Given the description of an element on the screen output the (x, y) to click on. 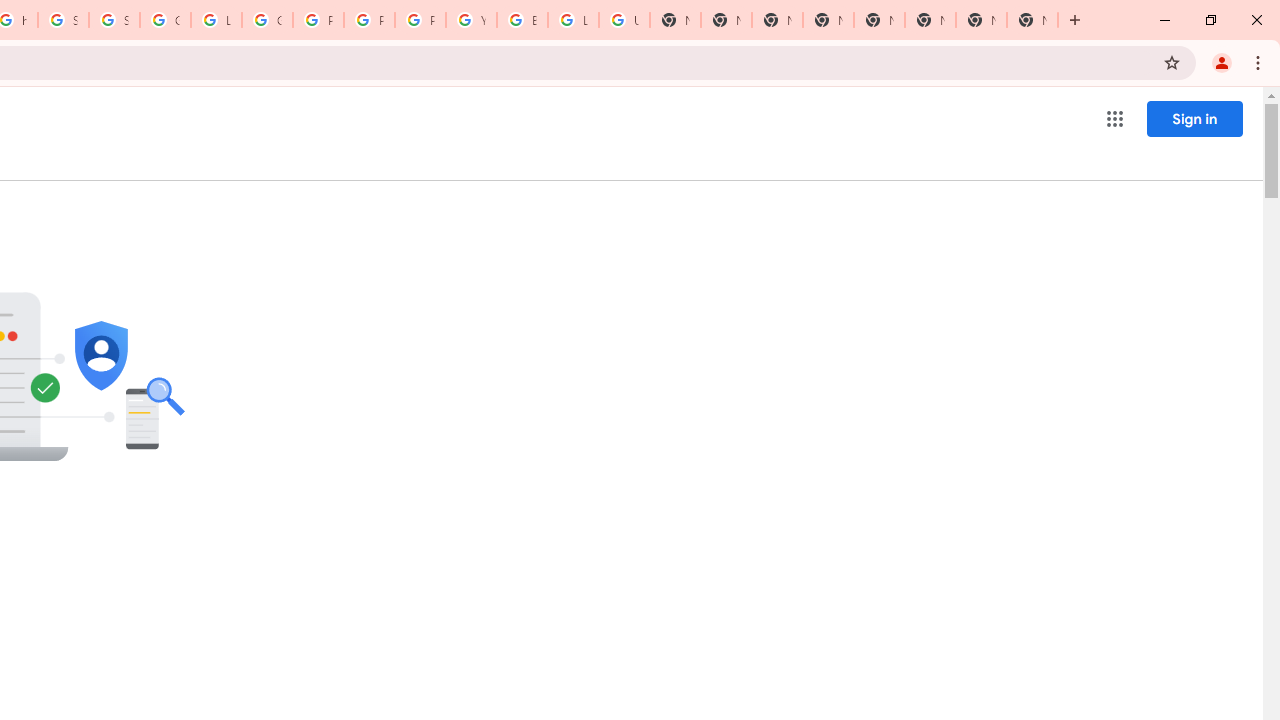
New Tab (1032, 20)
Sign in - Google Accounts (113, 20)
New Tab (776, 20)
Privacy Help Center - Policies Help (318, 20)
